Given the description of an element on the screen output the (x, y) to click on. 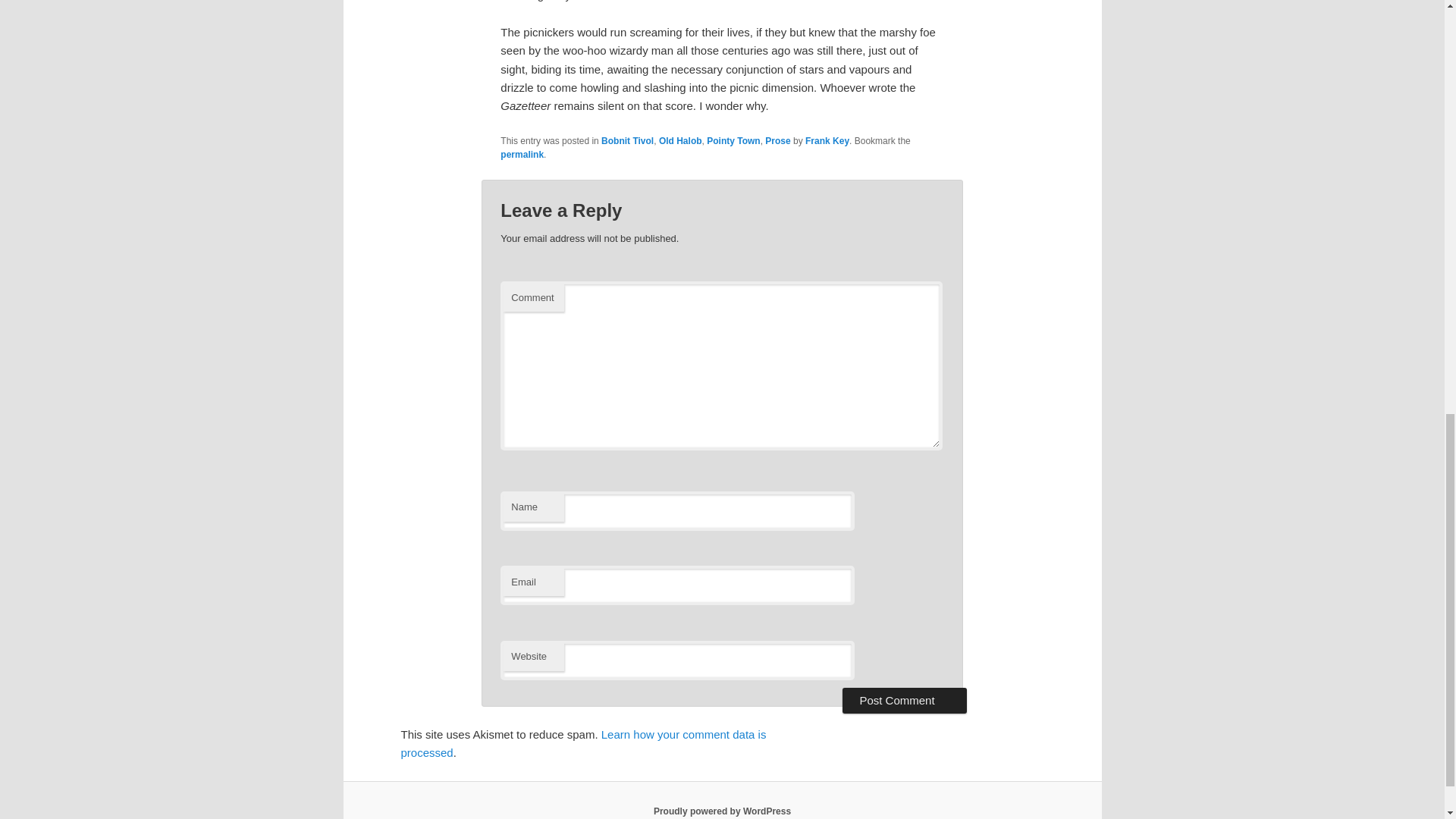
Post Comment (904, 700)
Semantic Personal Publishing Platform (721, 810)
Bobnit Tivol (627, 140)
Prose (777, 140)
Proudly powered by WordPress (721, 810)
Permalink to Big Damp Castle (521, 154)
permalink (521, 154)
Learn how your comment data is processed (582, 743)
Old Halob (680, 140)
Post Comment (904, 700)
Pointy Town (733, 140)
Frank Key (826, 140)
